Given the description of an element on the screen output the (x, y) to click on. 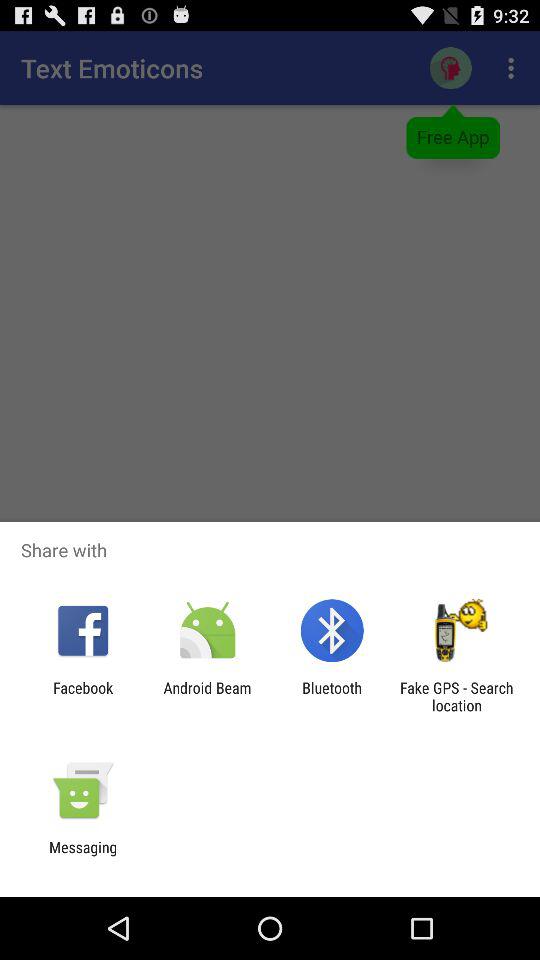
open the app next to bluetooth app (456, 696)
